Given the description of an element on the screen output the (x, y) to click on. 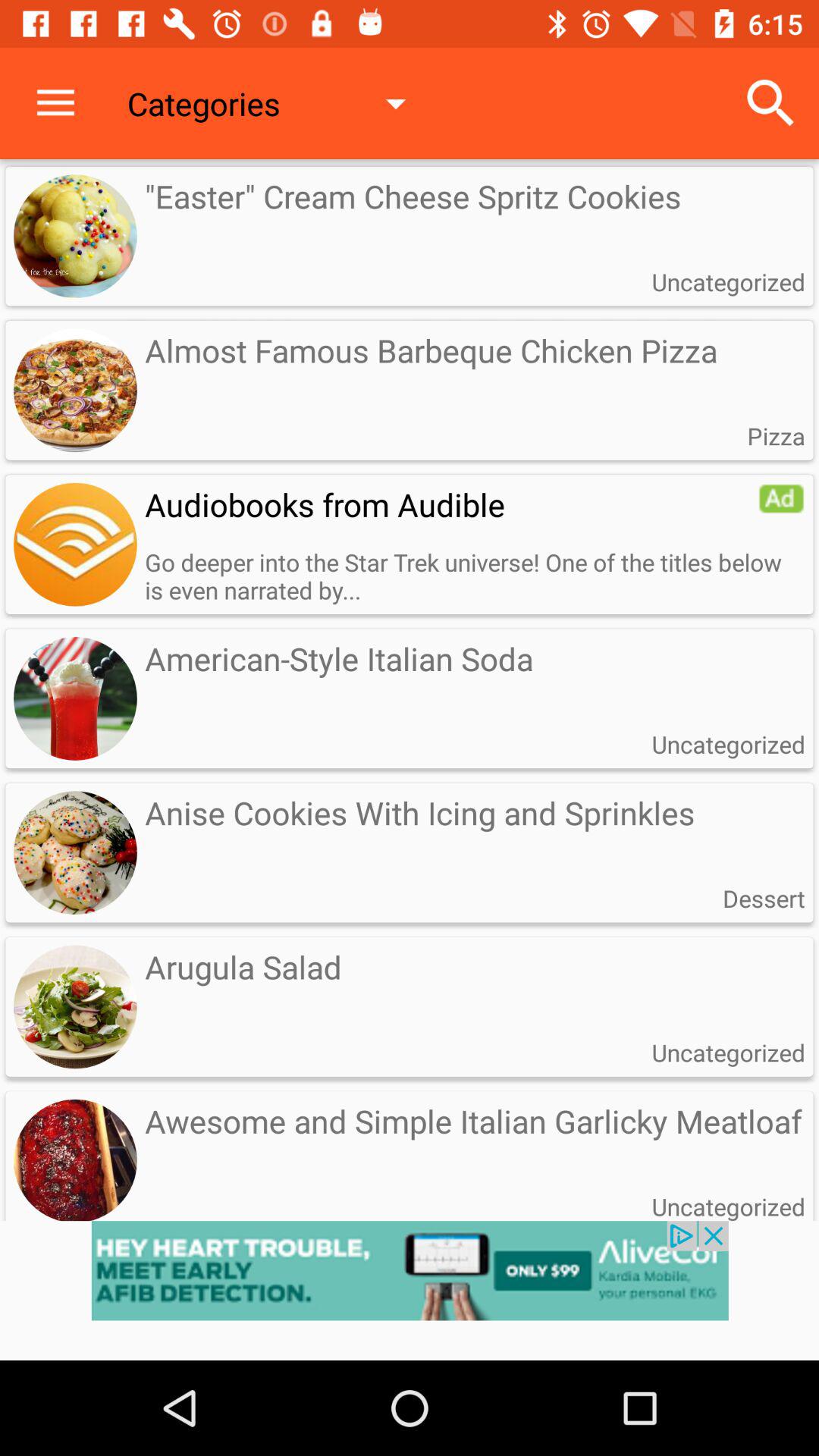
advertising options (781, 498)
